Given the description of an element on the screen output the (x, y) to click on. 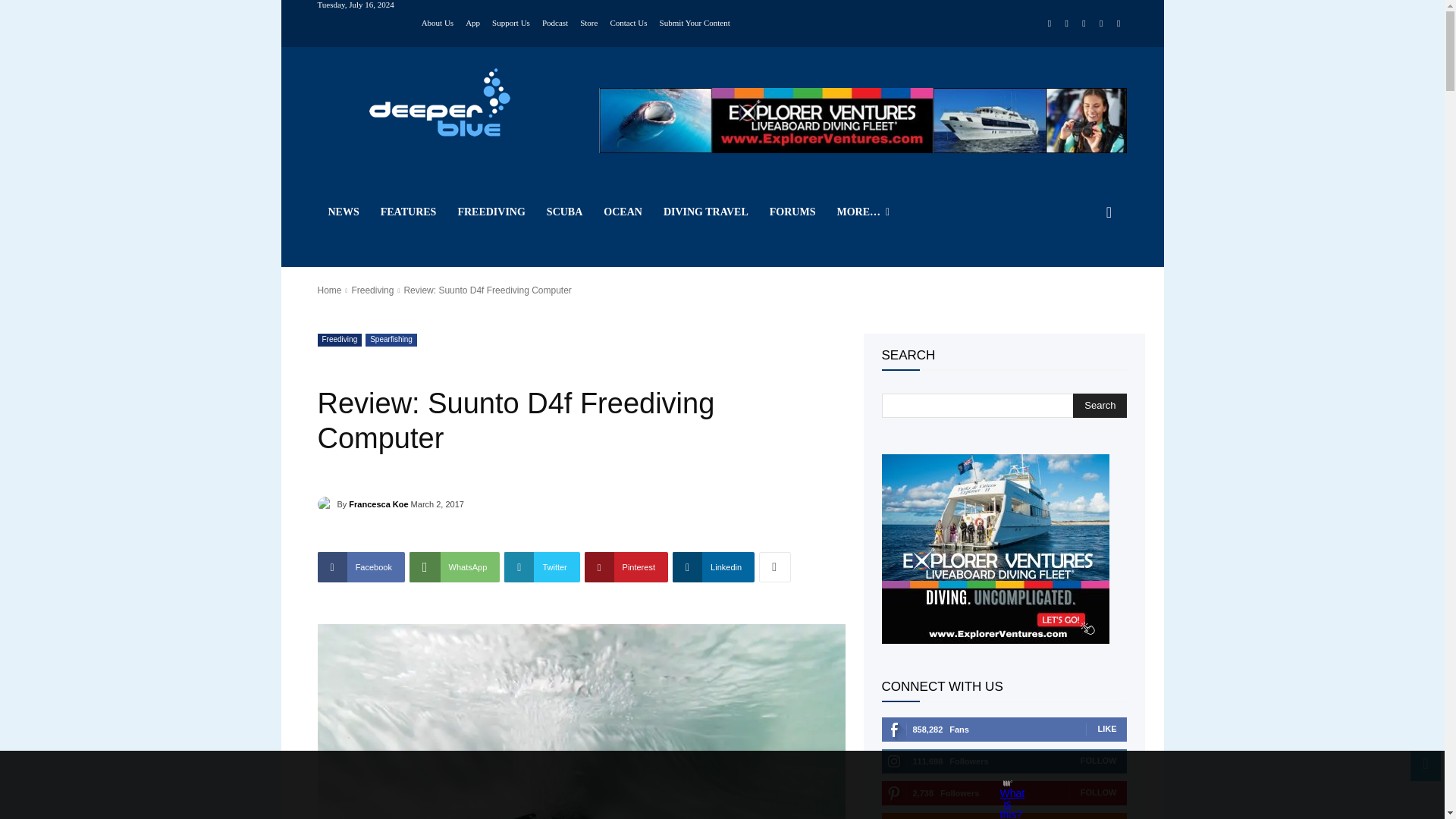
Facebook (1049, 23)
Youtube (1117, 23)
App (472, 22)
Twitter (1101, 23)
RSS (1084, 23)
About Us (437, 22)
Instagram (1066, 23)
Podcast (554, 22)
Store (587, 22)
Support Us (510, 22)
Contact Us (628, 22)
